Given the description of an element on the screen output the (x, y) to click on. 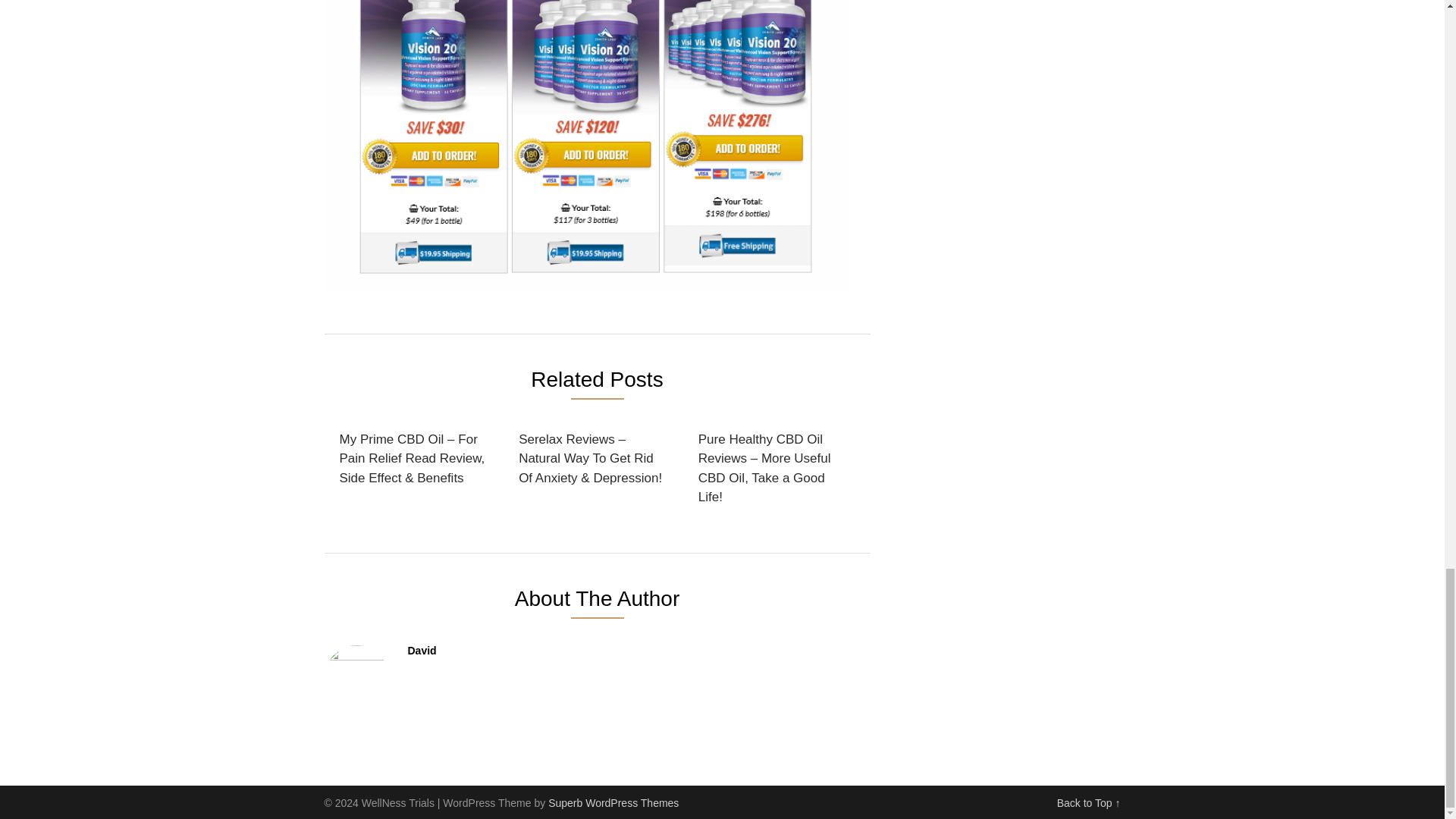
Superb WordPress Themes (613, 802)
